Given the description of an element on the screen output the (x, y) to click on. 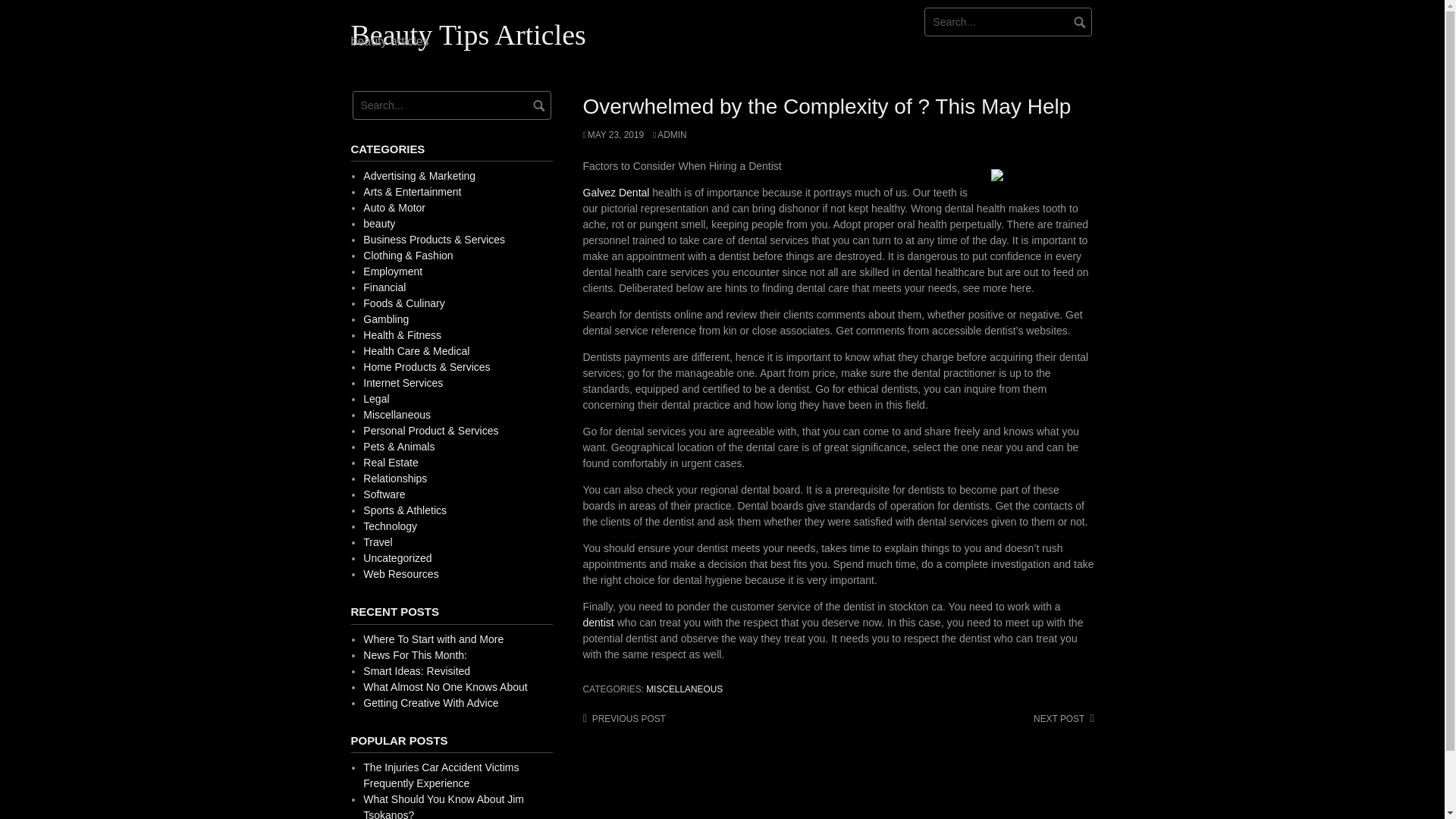
PREVIOUS POST (623, 718)
What Should You Know About Jim Tsokanos? (443, 806)
Software (383, 494)
Internet Services (402, 382)
MISCELLANEOUS (684, 688)
Travel (376, 541)
Miscellaneous (396, 414)
Search for: (451, 104)
dentist (597, 622)
Search for: (1008, 21)
Uncategorized (396, 558)
Relationships (394, 478)
MAY 23, 2019 (612, 134)
Technology (389, 526)
Galvez Dental (615, 192)
